Given the description of an element on the screen output the (x, y) to click on. 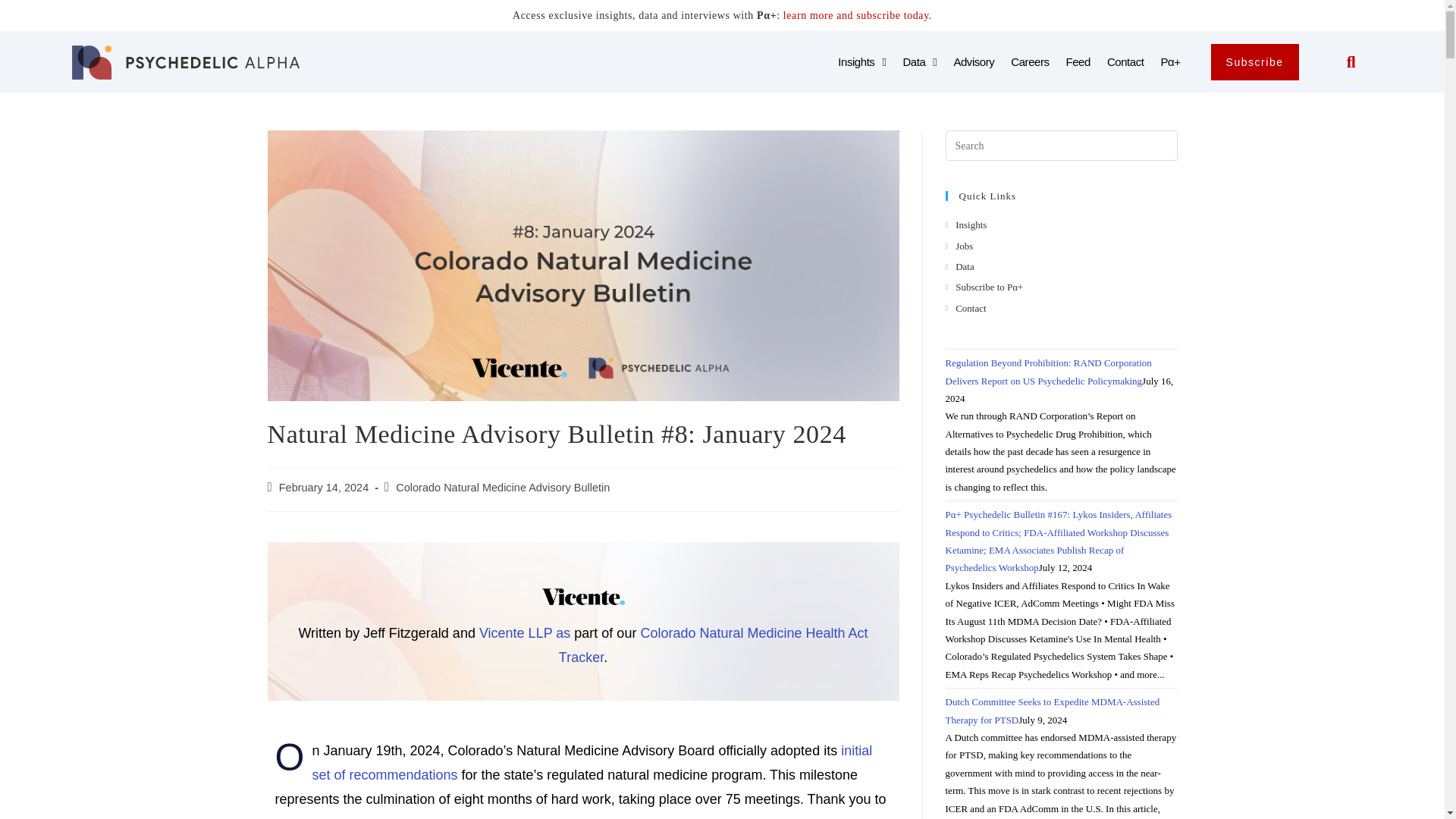
Colorado Natural Medicine Advisory Bulletin (503, 487)
Careers (1029, 61)
Advisory (973, 61)
Feed (1077, 61)
Contact (1125, 61)
learn more and subscribe today (855, 15)
Vicente LLP as (526, 632)
Colorado Natural Medicine Health Act Tracker (713, 645)
Insights (861, 61)
Subscribe (1254, 62)
Data (919, 61)
